Given the description of an element on the screen output the (x, y) to click on. 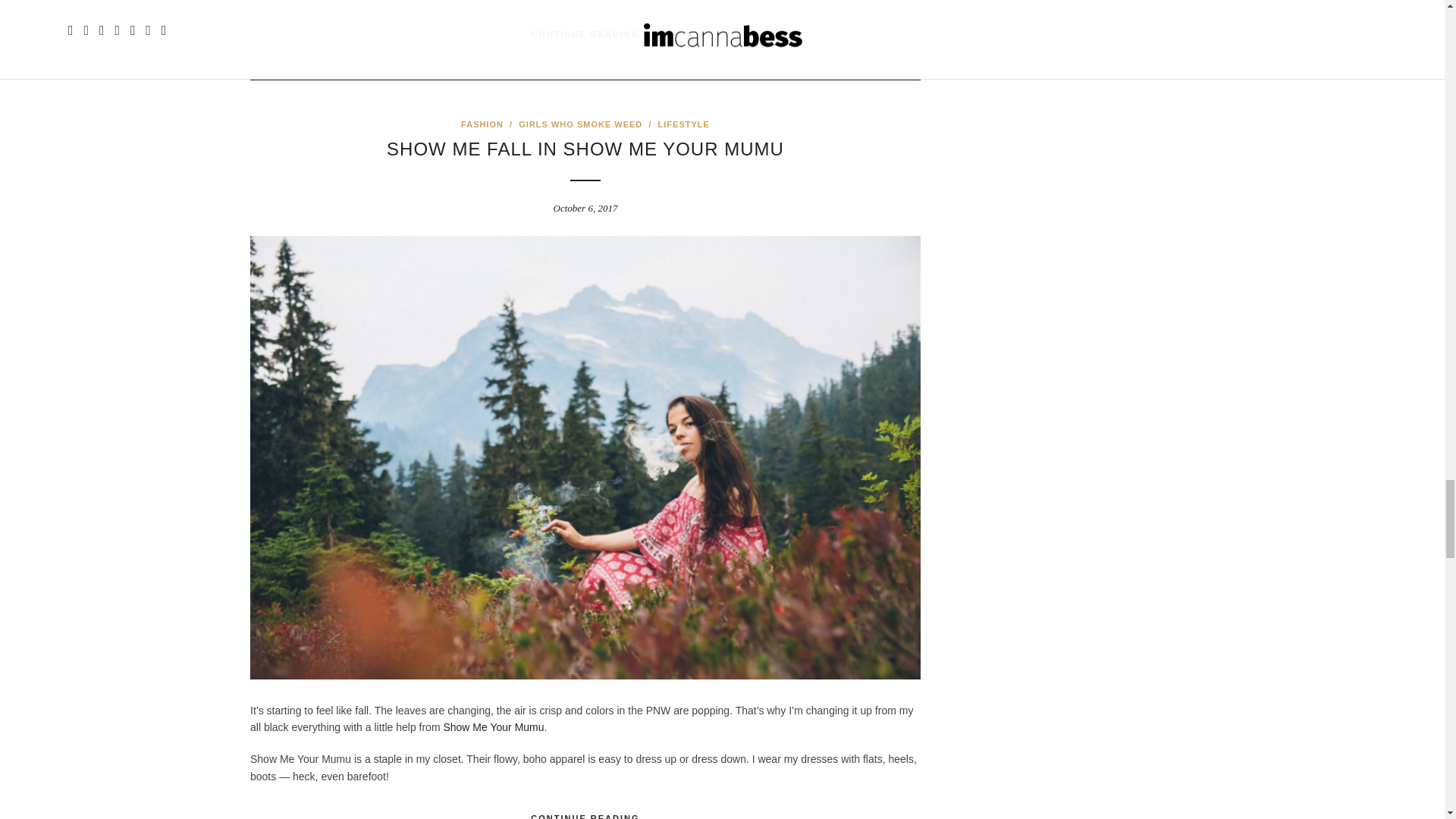
Show Me Fall in Show Me Your Mumu (585, 148)
